Given the description of an element on the screen output the (x, y) to click on. 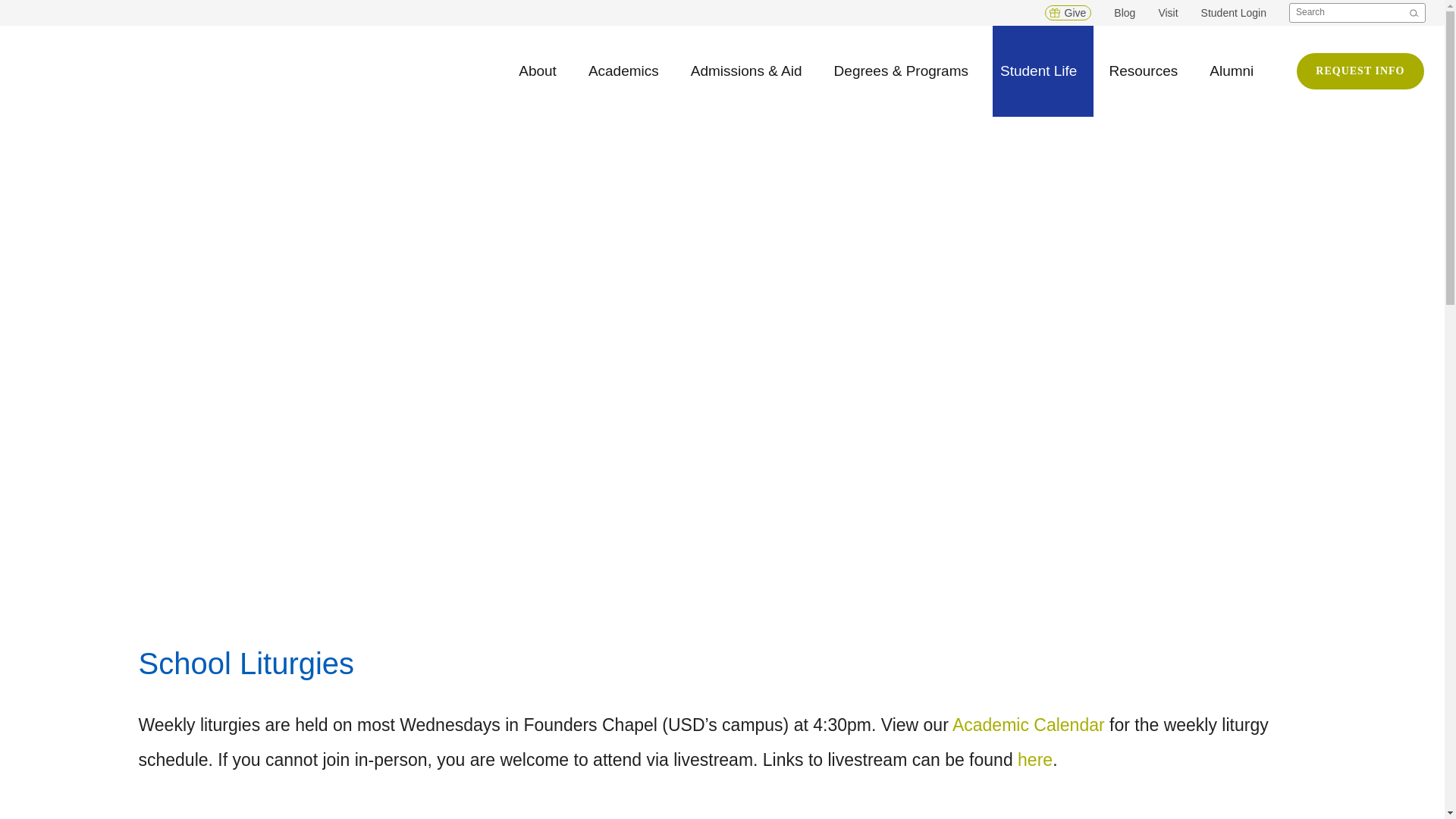
Academics (623, 70)
About (537, 70)
Give (1068, 12)
Visit (1167, 12)
Student Login (1233, 12)
Blog (1124, 12)
